Given the description of an element on the screen output the (x, y) to click on. 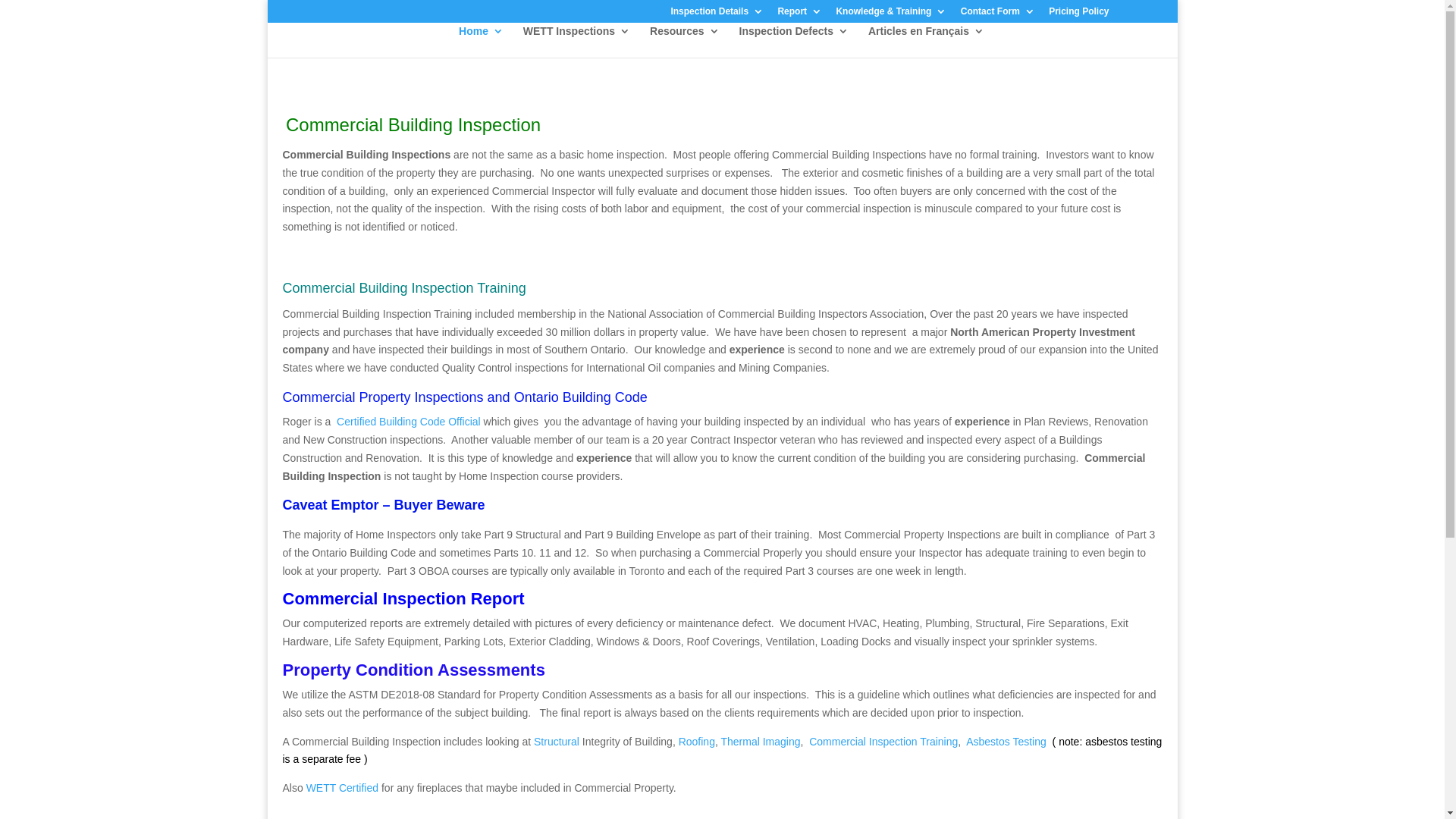
Contact Form Element type: text (997, 14)
Commercial Inspection Training Element type: text (883, 741)
Inspection Details Element type: text (716, 14)
Inspection Defects Element type: text (793, 41)
Report Element type: text (799, 14)
Thermal Imaging Element type: text (760, 741)
Certified Building Code Official Element type: text (408, 421)
WETT Inspections Element type: text (576, 41)
Home Element type: text (480, 41)
Knowledge & Training Element type: text (890, 14)
WETT Certified Element type: text (342, 787)
Pricing Policy Element type: text (1078, 14)
Structural Element type: text (556, 741)
Roofing Element type: text (696, 741)
Resources Element type: text (684, 41)
